Given the description of an element on the screen output the (x, y) to click on. 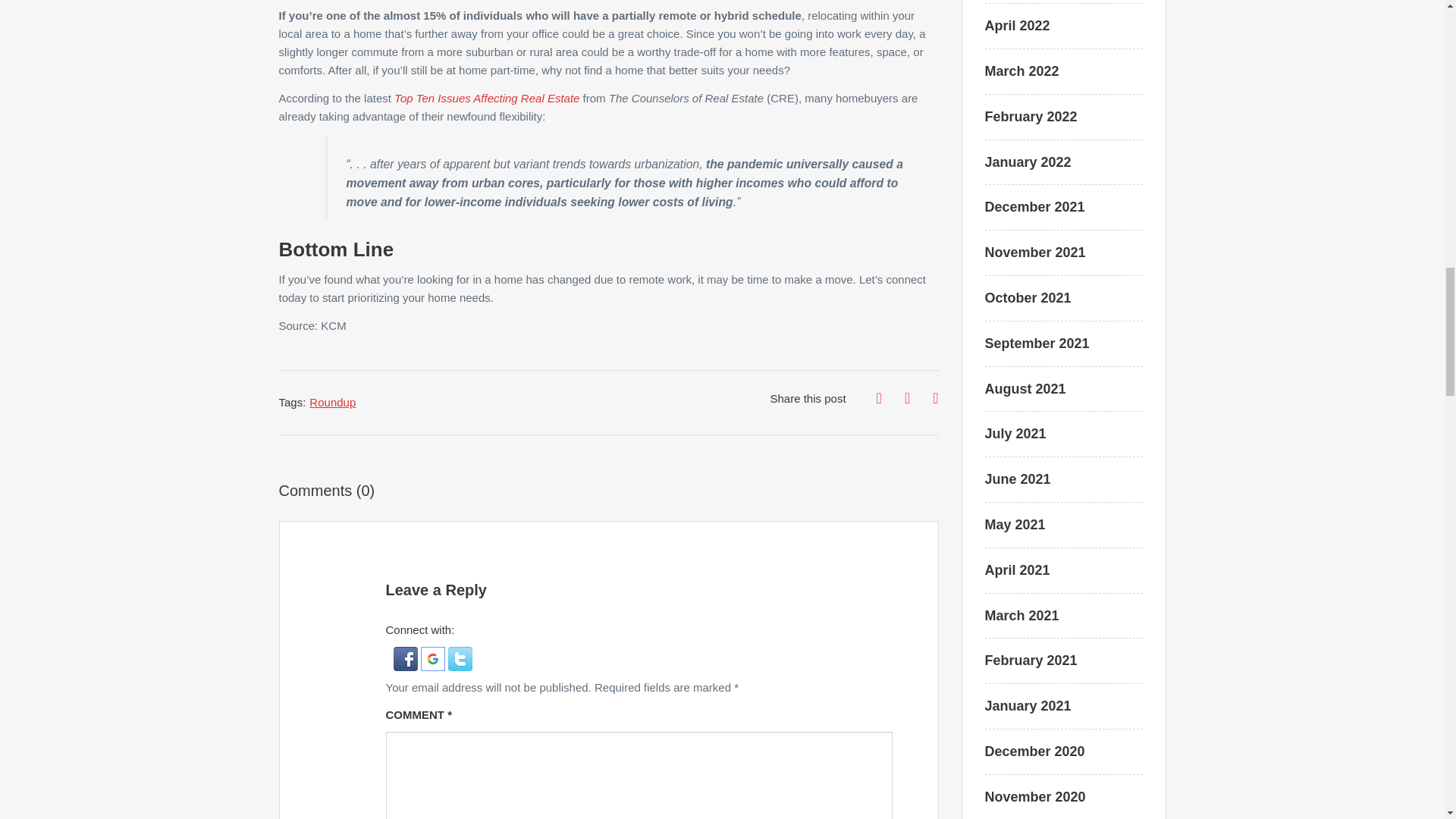
Connect with Facebook (406, 657)
Connect with Twitter (459, 657)
Connect with Google (434, 657)
